Given the description of an element on the screen output the (x, y) to click on. 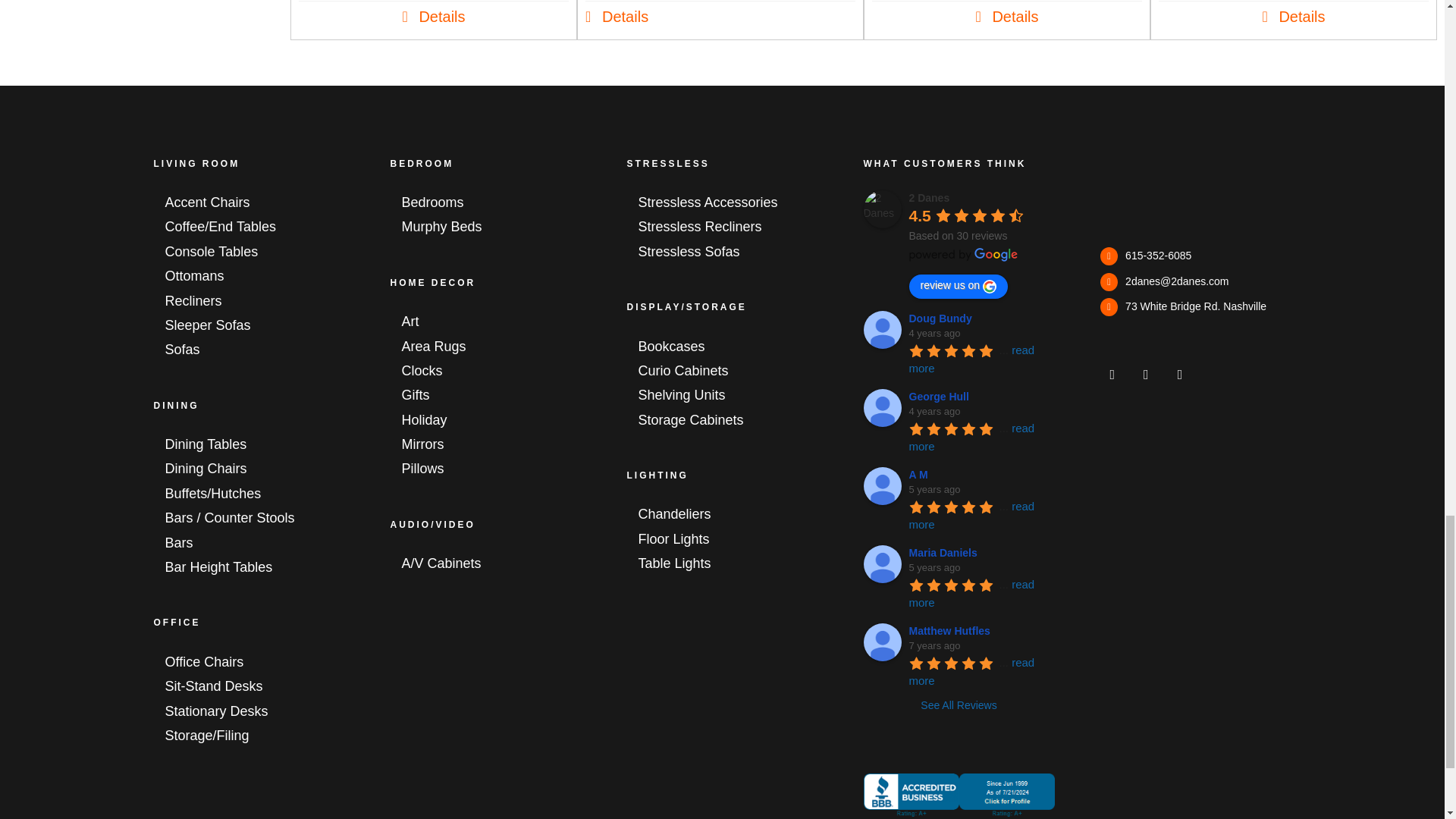
powered by Google (962, 254)
Doug Bundy (882, 329)
2 Danes (882, 209)
